Given the description of an element on the screen output the (x, y) to click on. 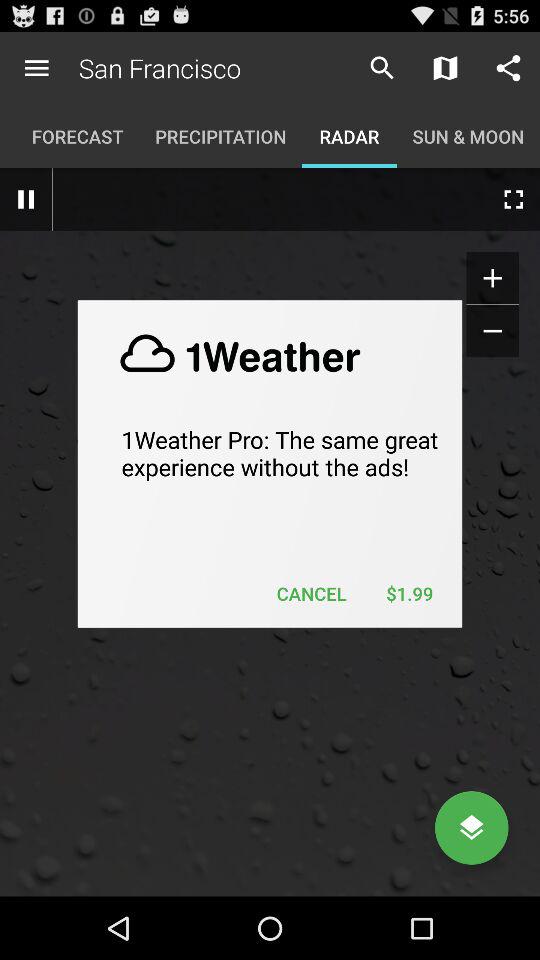
tap cancel icon (311, 593)
